Given the description of an element on the screen output the (x, y) to click on. 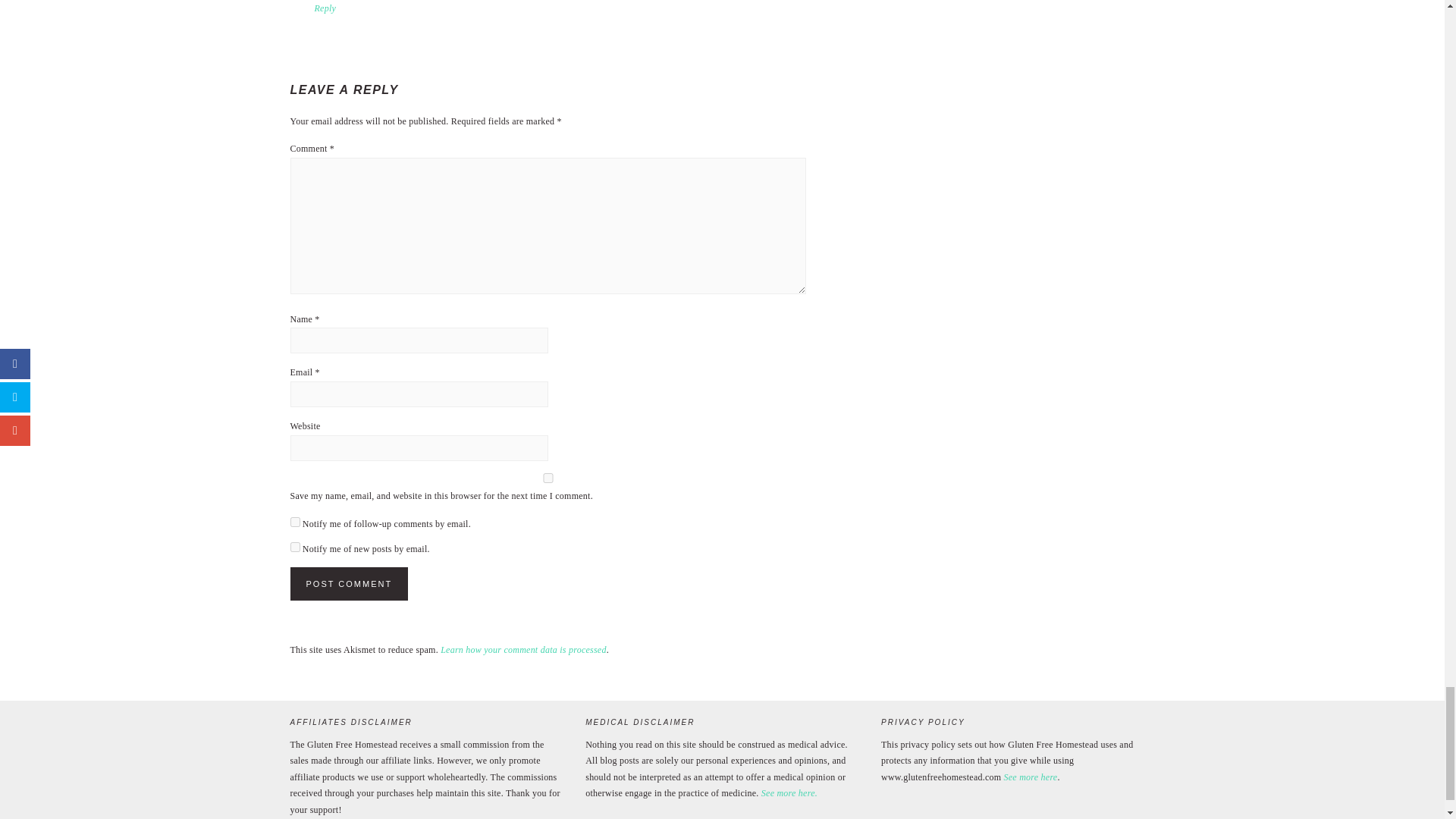
yes (547, 478)
Post Comment (348, 583)
subscribe (294, 547)
subscribe (294, 521)
